Given the description of an element on the screen output the (x, y) to click on. 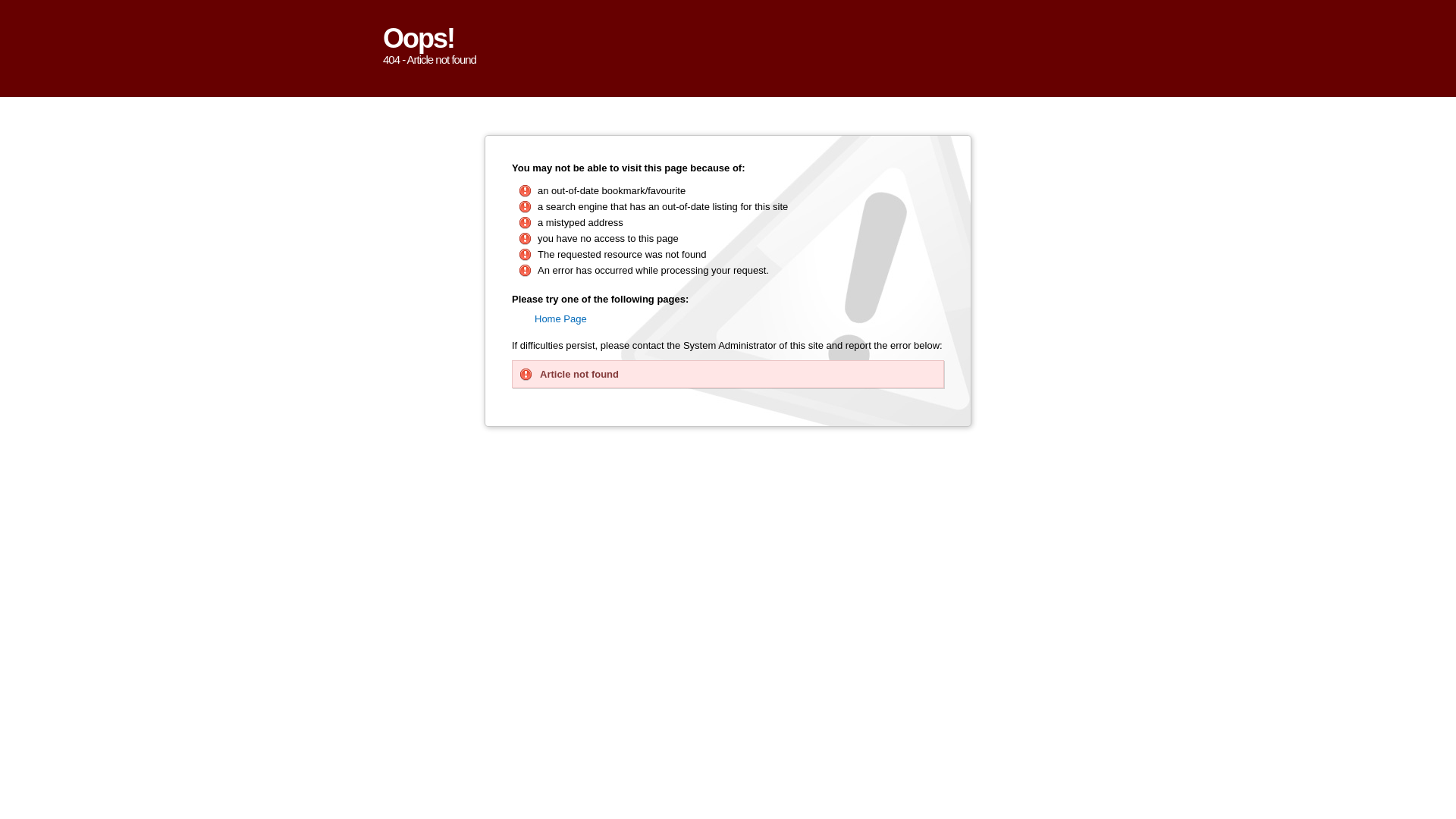
Home Page Element type: text (560, 318)
